Given the description of an element on the screen output the (x, y) to click on. 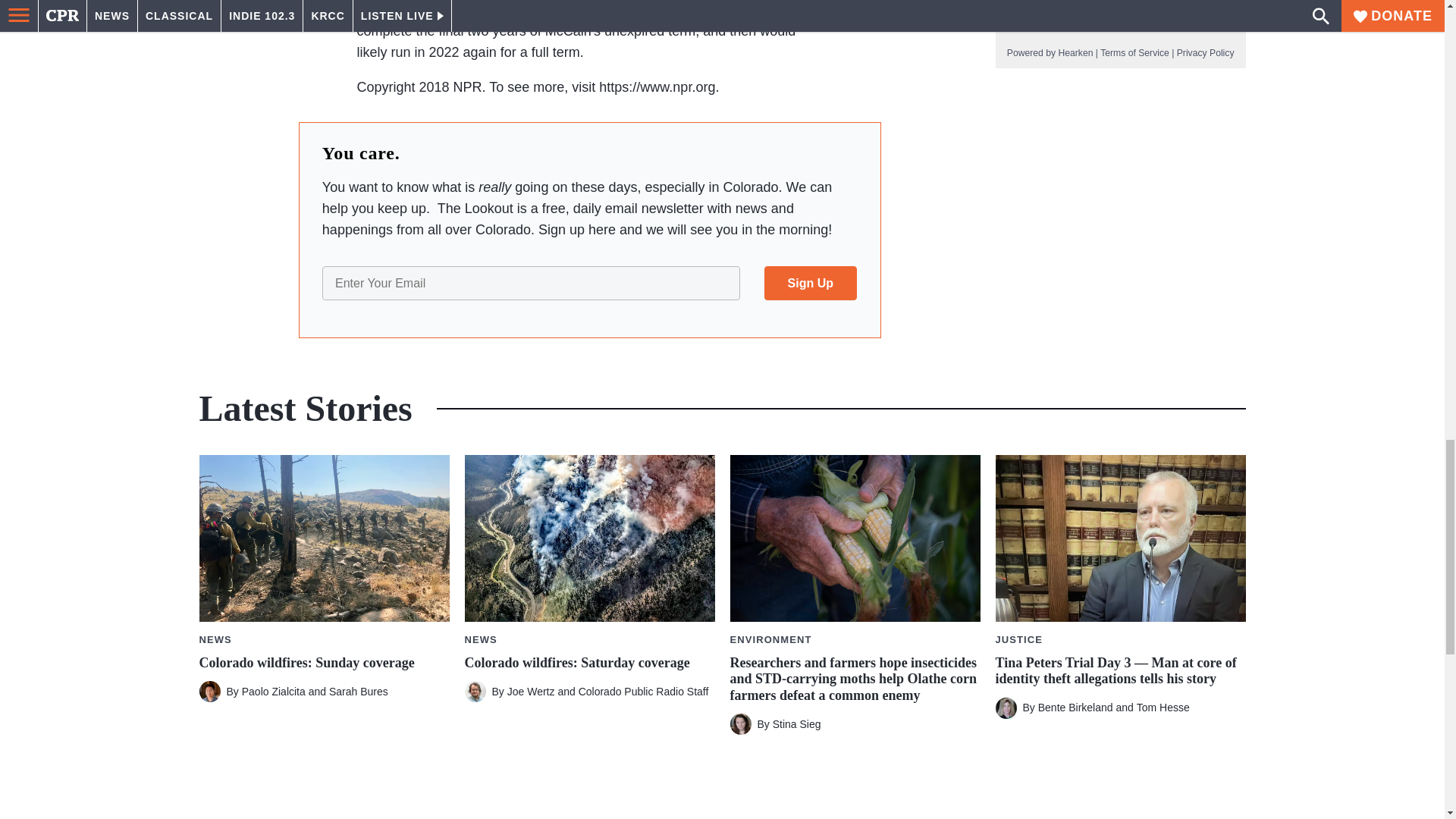
newsArticleSignup (589, 282)
